Given the description of an element on the screen output the (x, y) to click on. 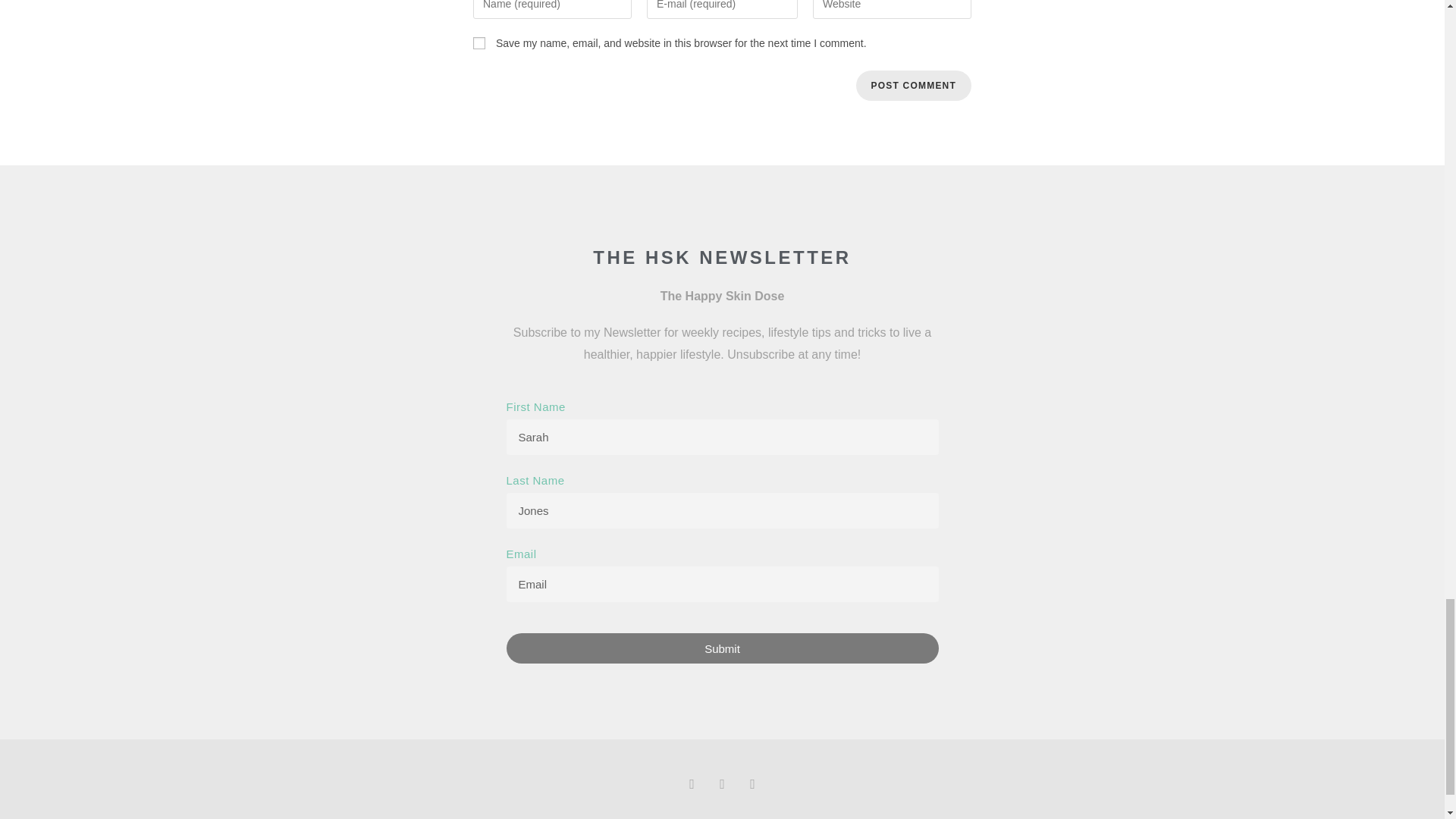
yes (478, 42)
Post Comment (913, 85)
